Given the description of an element on the screen output the (x, y) to click on. 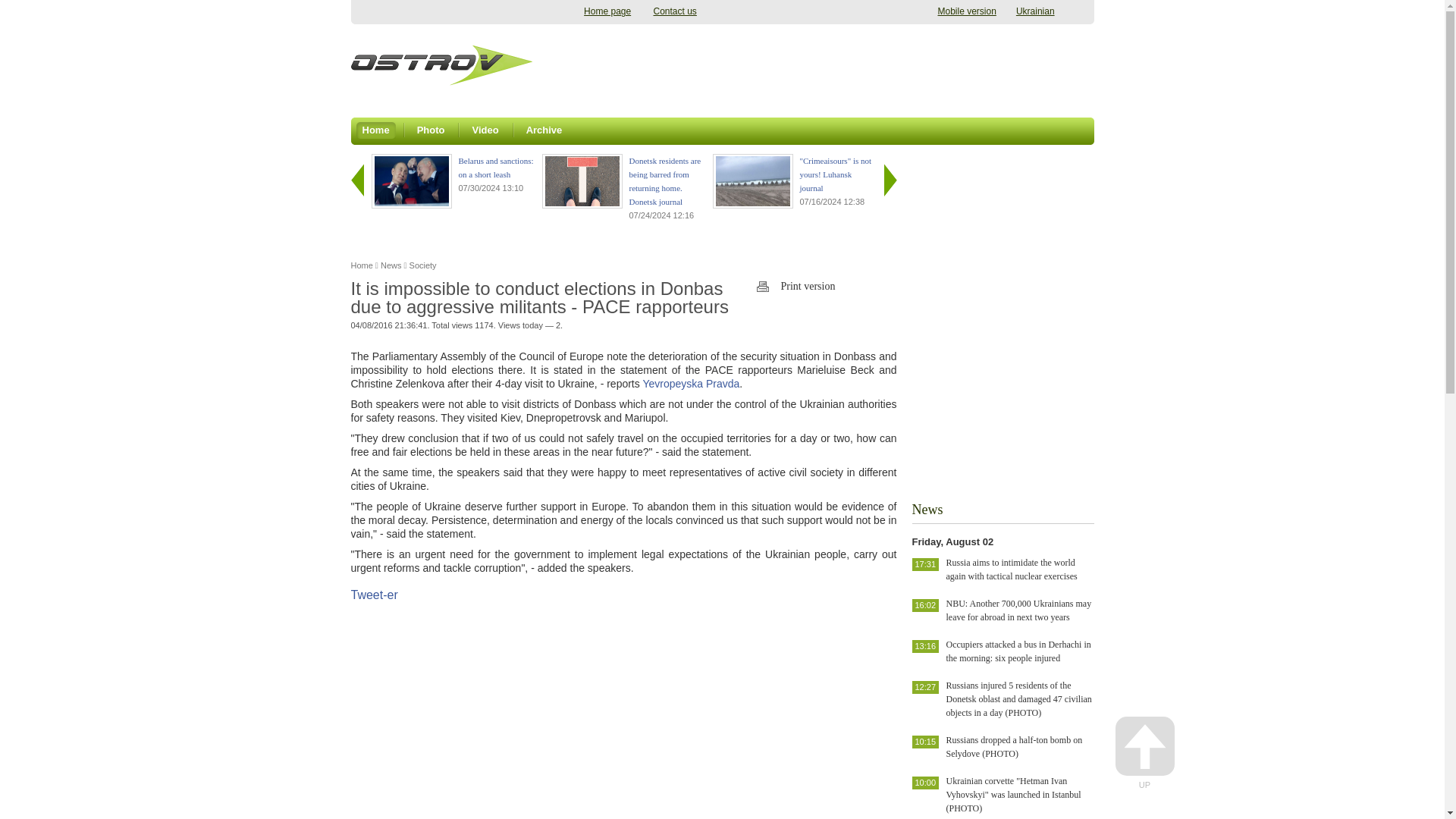
Society (422, 265)
Home (376, 127)
Home page (606, 10)
Video (484, 127)
Mobile version (966, 10)
Tweet-er (373, 594)
News (390, 265)
Home (361, 265)
Archive (544, 127)
Society (422, 265)
